Given the description of an element on the screen output the (x, y) to click on. 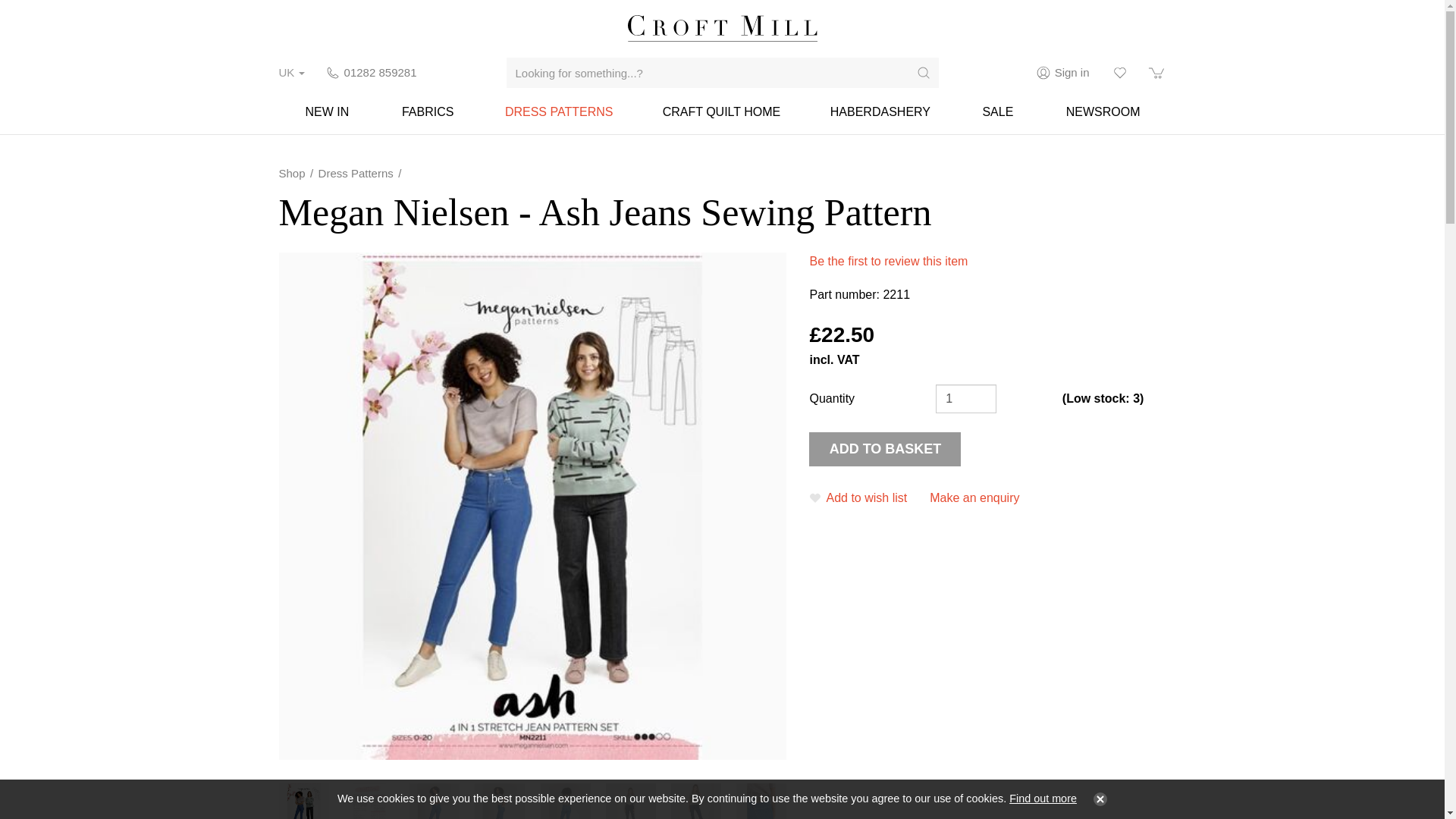
Ash Jeans Pattern By Megan Nielsen MNP2211 5 (696, 796)
Ash Jeans Pattern By Megan Nielsen MNP2211 3 (564, 796)
Croft Mill newsroom (1103, 111)
Ash Jeans Pattern By Megan Nielsen MNP2211 2 (499, 796)
Fabric for craft, bag making, quilting and the home (721, 111)
Wish list (1118, 72)
Ash Jeans Pattern By Megan Nielsen MNP2211 6 (761, 796)
Ash Jeans Pattern By Megan Nielsen MNP2211 1 (434, 796)
1 (965, 398)
Add to basket (884, 449)
NEW IN (327, 111)
